Given the description of an element on the screen output the (x, y) to click on. 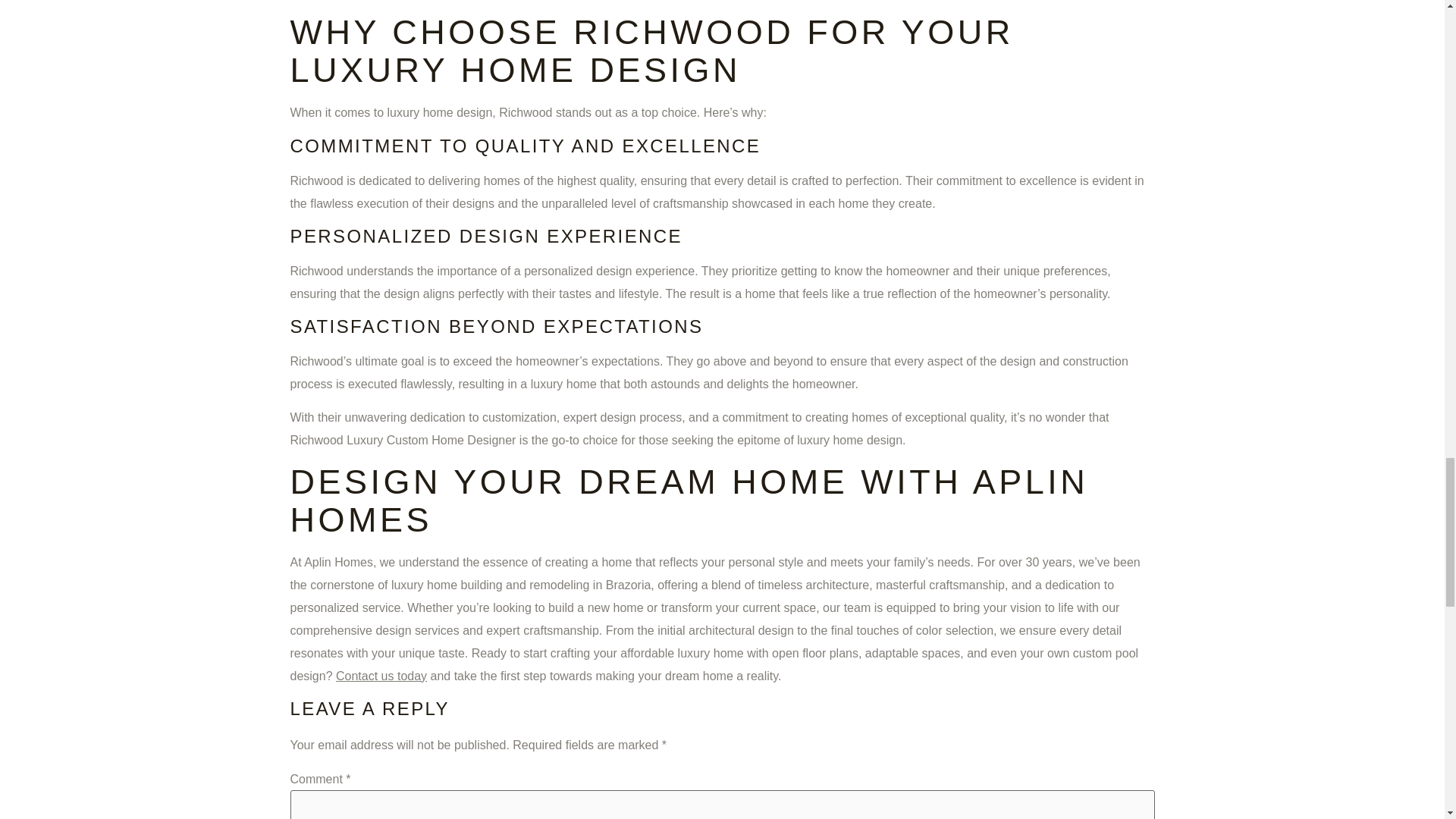
Contact us today (381, 675)
